Given the description of an element on the screen output the (x, y) to click on. 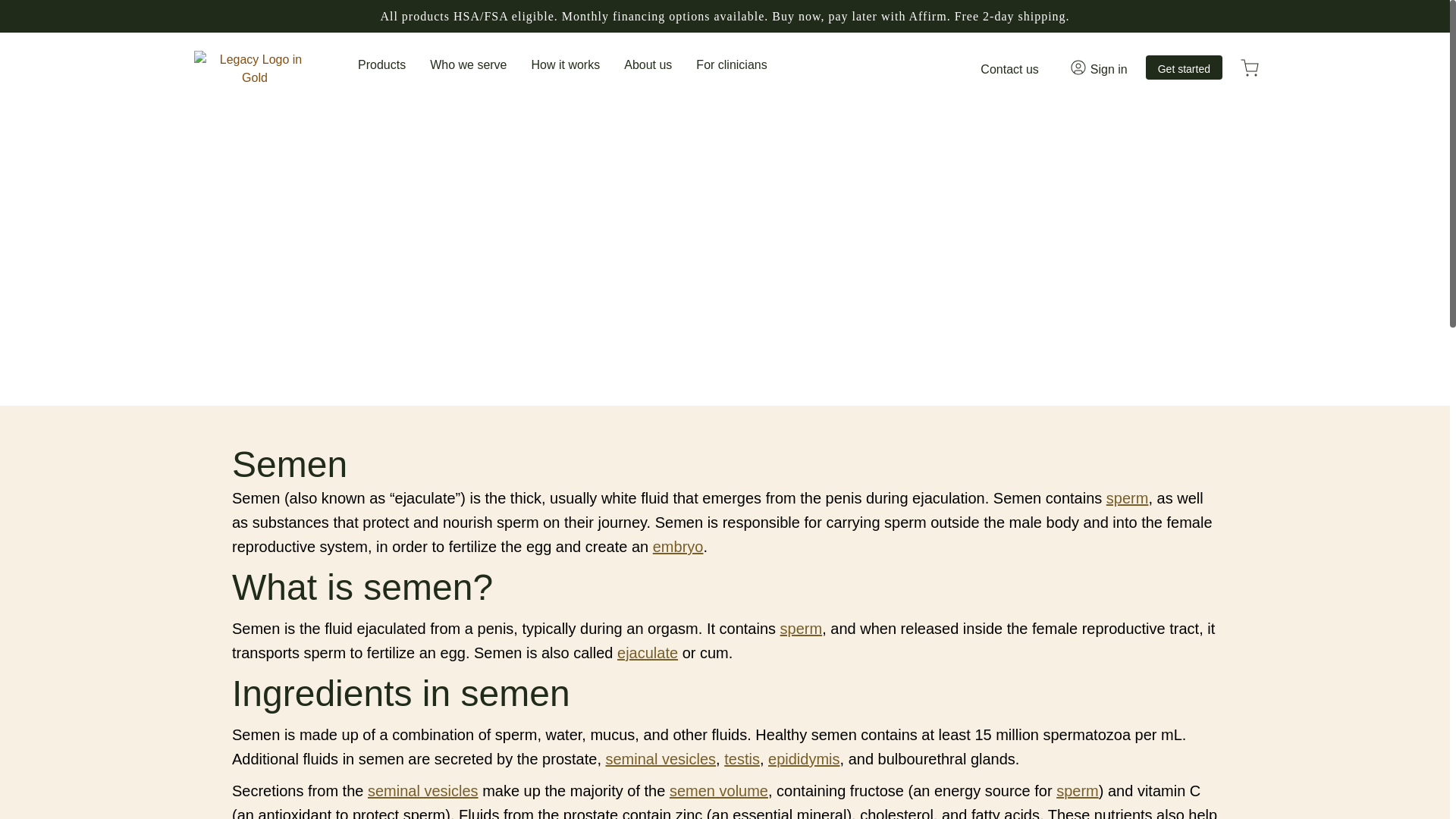
Products (382, 63)
Who we serve (467, 63)
How it works (565, 63)
About us (647, 63)
